Given the description of an element on the screen output the (x, y) to click on. 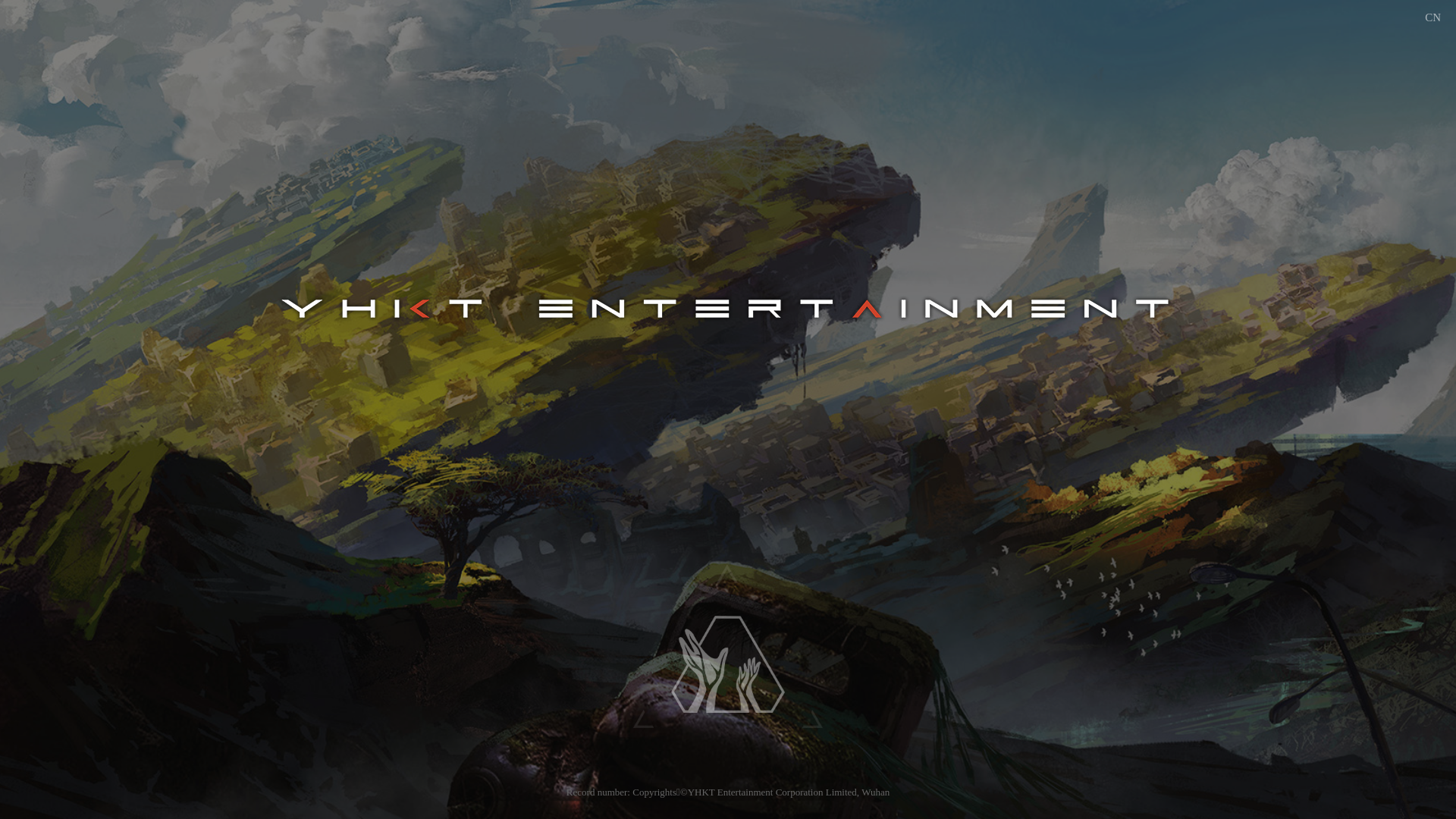
CN Element type: text (1432, 17)
